Given the description of an element on the screen output the (x, y) to click on. 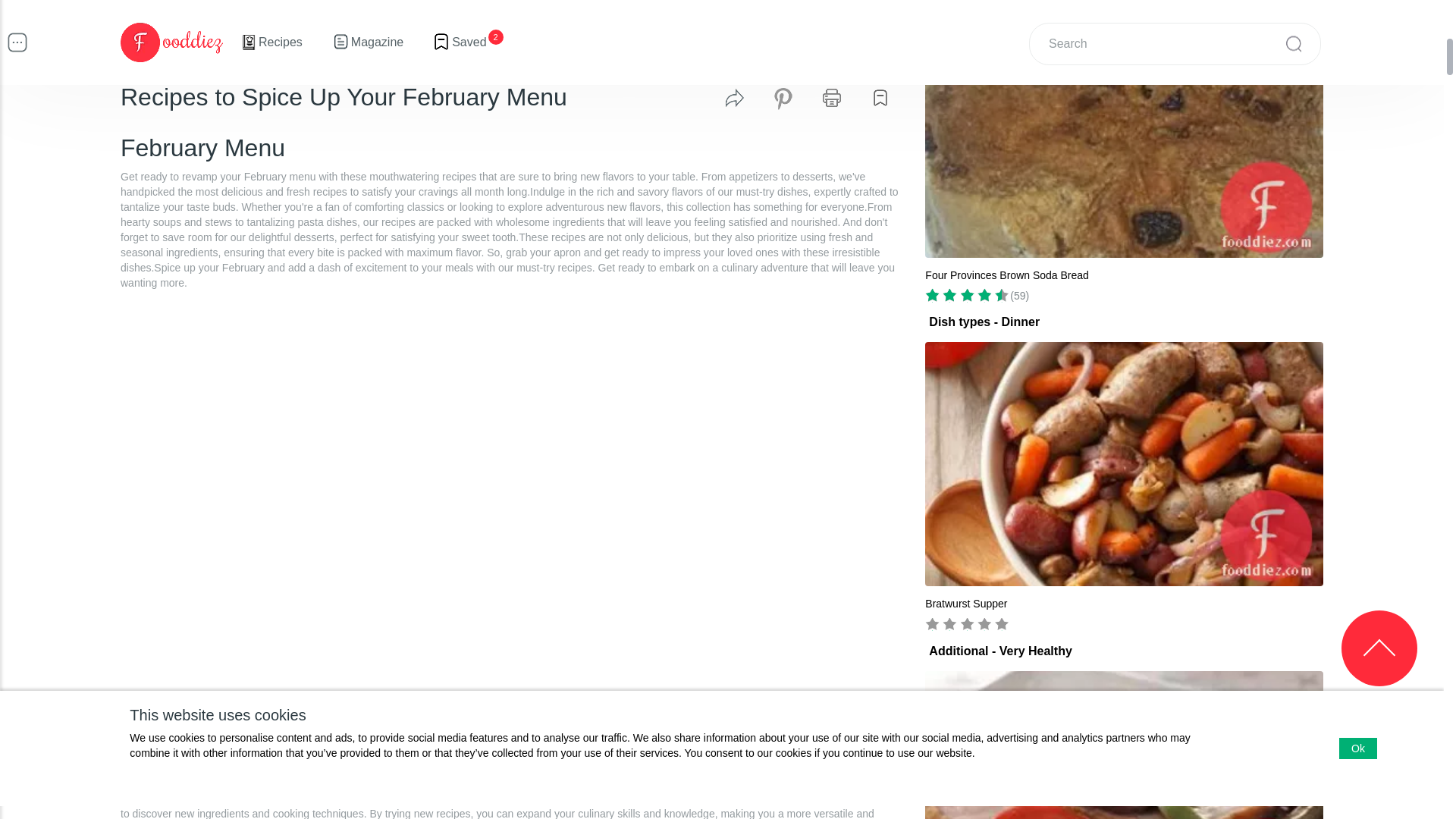
Print (832, 97)
Pin it! (783, 97)
Share (734, 97)
Save (880, 97)
